Given the description of an element on the screen output the (x, y) to click on. 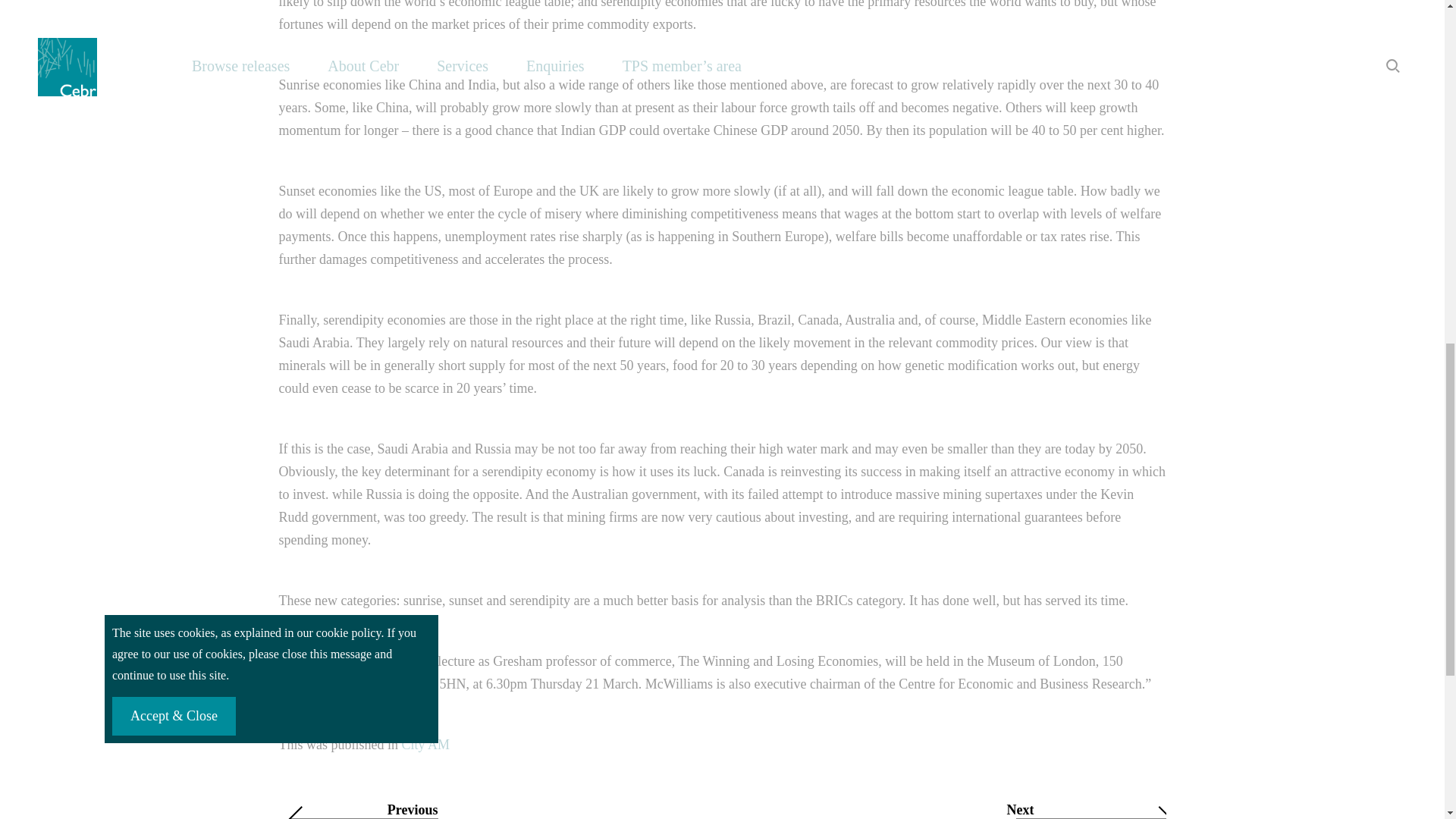
Previous (495, 810)
City AM (425, 744)
Next (949, 810)
